Given the description of an element on the screen output the (x, y) to click on. 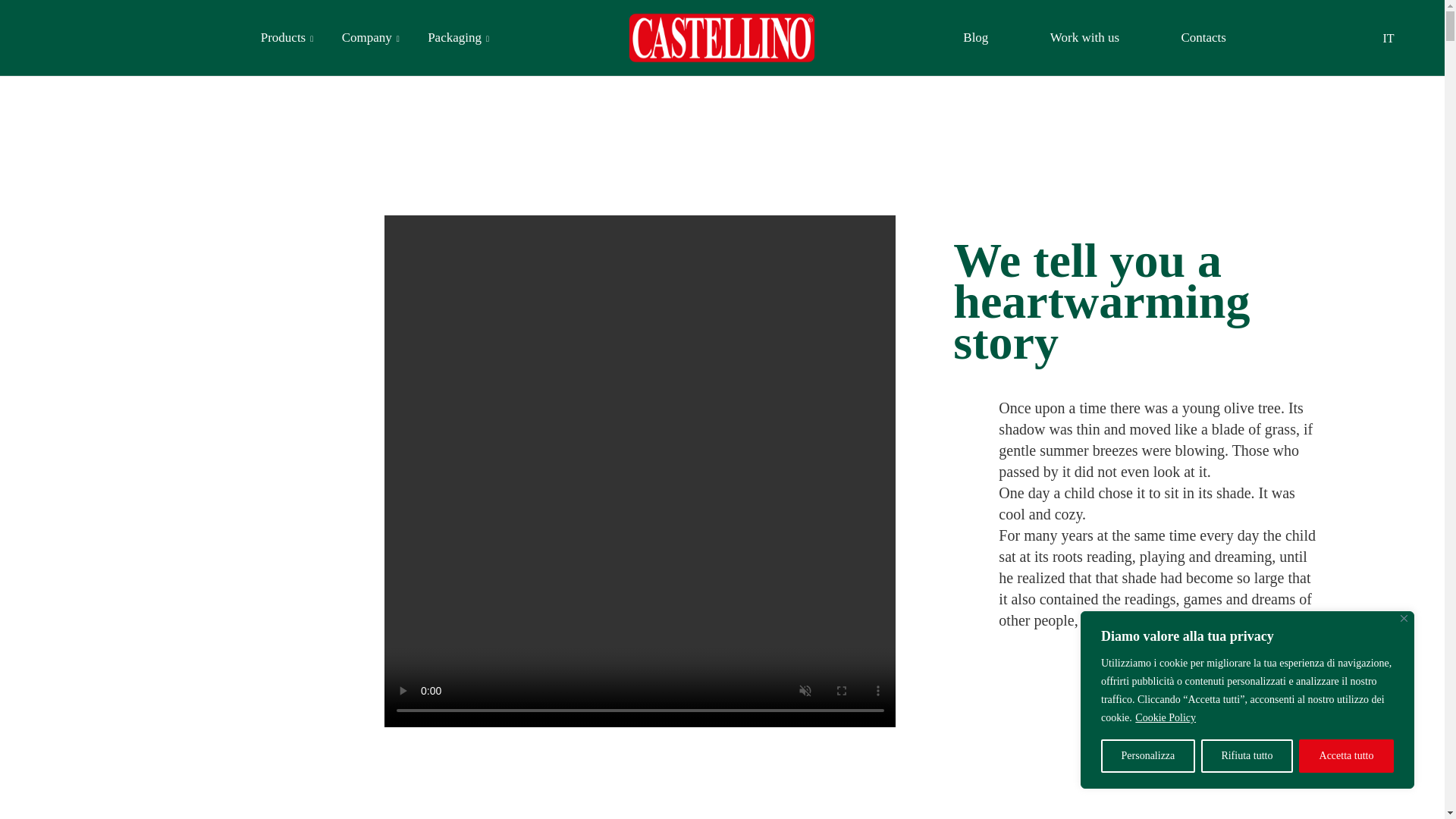
Work with us (1084, 37)
Rifiuta tutto (1246, 756)
IT (1383, 37)
Accetta tutto (1345, 756)
Contacts (1202, 37)
Personalizza (1147, 756)
Company (370, 37)
Cookie Policy (1165, 717)
Products (287, 37)
Blog (975, 37)
Packaging (458, 37)
